Given the description of an element on the screen output the (x, y) to click on. 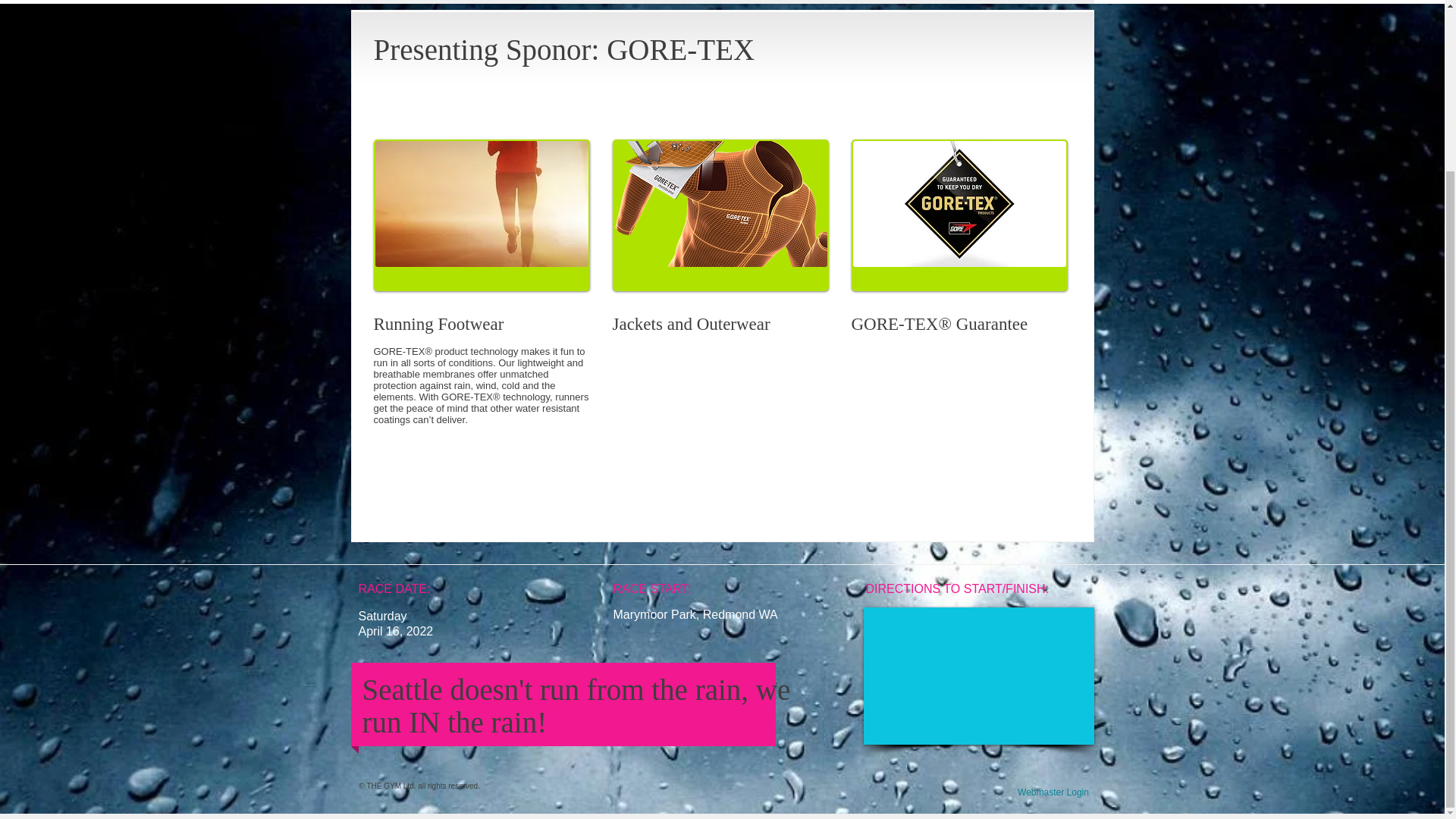
Webmaster Login (1053, 792)
Google Maps (978, 676)
